Given the description of an element on the screen output the (x, y) to click on. 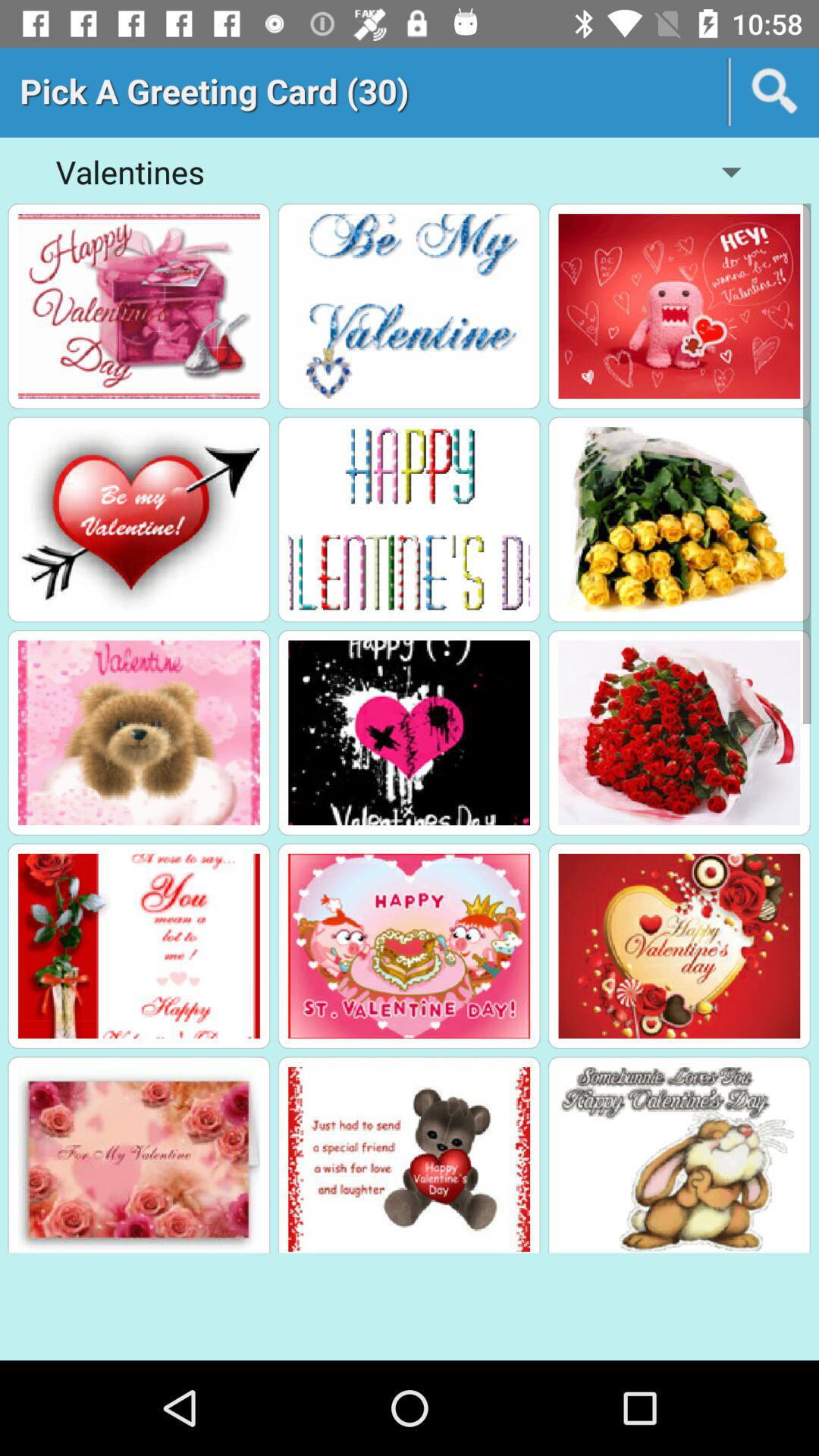
select the card (138, 732)
